Given the description of an element on the screen output the (x, y) to click on. 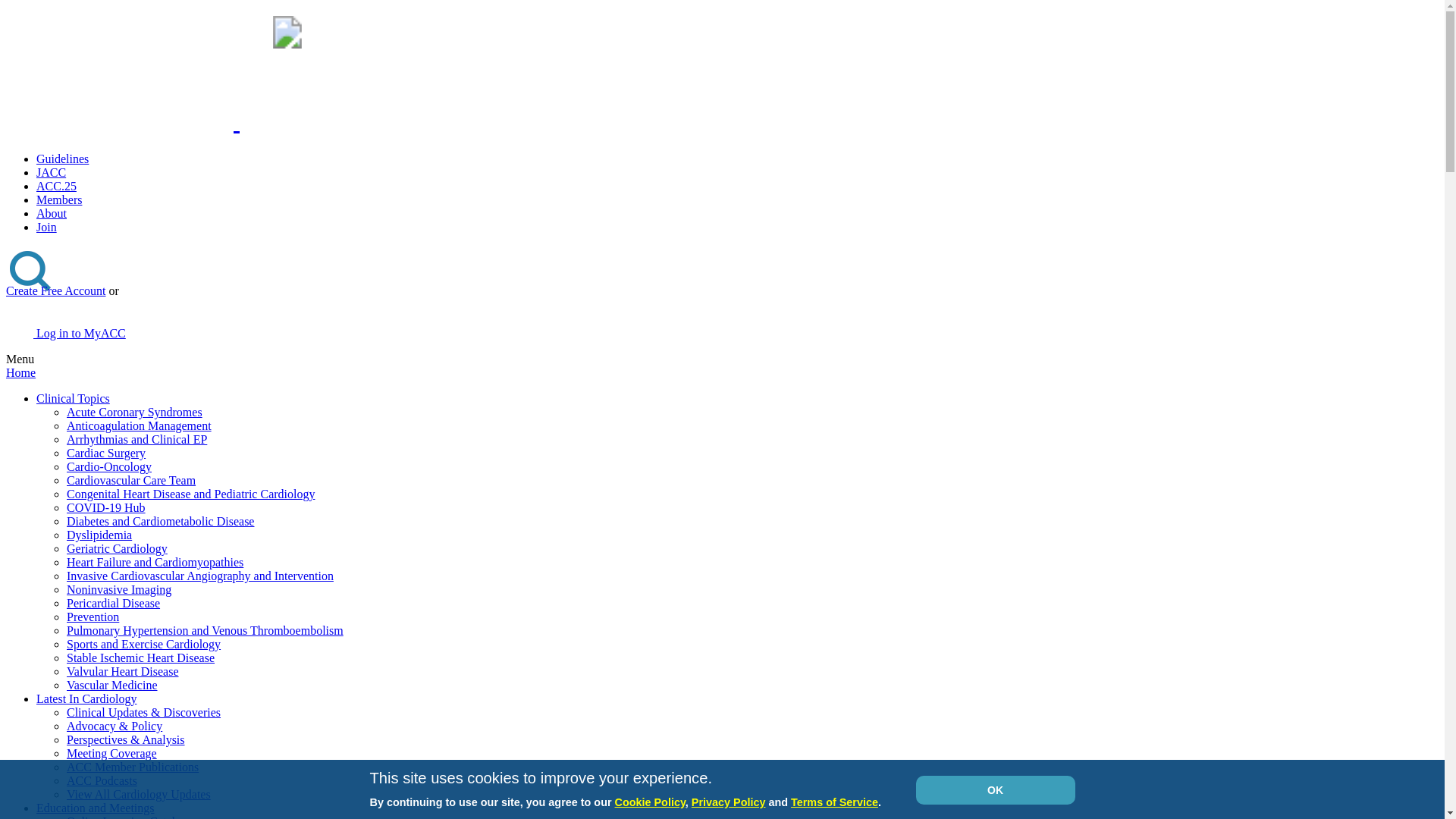
Cardiac Surgery (105, 452)
Diabetes and Cardiometabolic Disease (159, 521)
Meeting Coverage (111, 753)
Heart Failure and Cardiomyopathies (154, 562)
Congenital Heart Disease and Pediatric Cardiology (190, 493)
Dyslipidemia (99, 534)
Vascular Medicine (111, 684)
Cardio-Oncology (108, 466)
Prevention (92, 616)
ACC Annual Scientific Session (56, 185)
Cardiovascular Care Team (130, 480)
Pericardial Disease (113, 603)
ACC Podcasts (101, 780)
Noninvasive Imaging (118, 589)
